Given the description of an element on the screen output the (x, y) to click on. 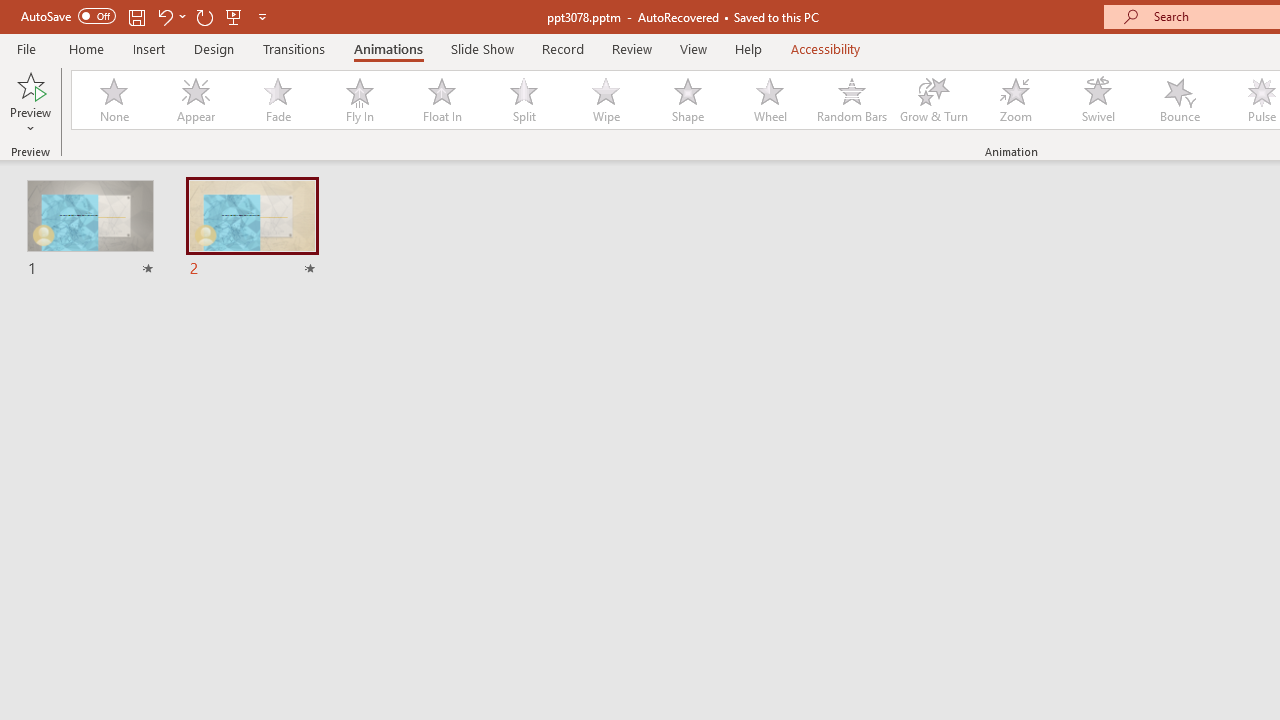
Bounce (1180, 100)
None (113, 100)
Grow & Turn (934, 100)
Swivel (1098, 100)
Split (523, 100)
